Given the description of an element on the screen output the (x, y) to click on. 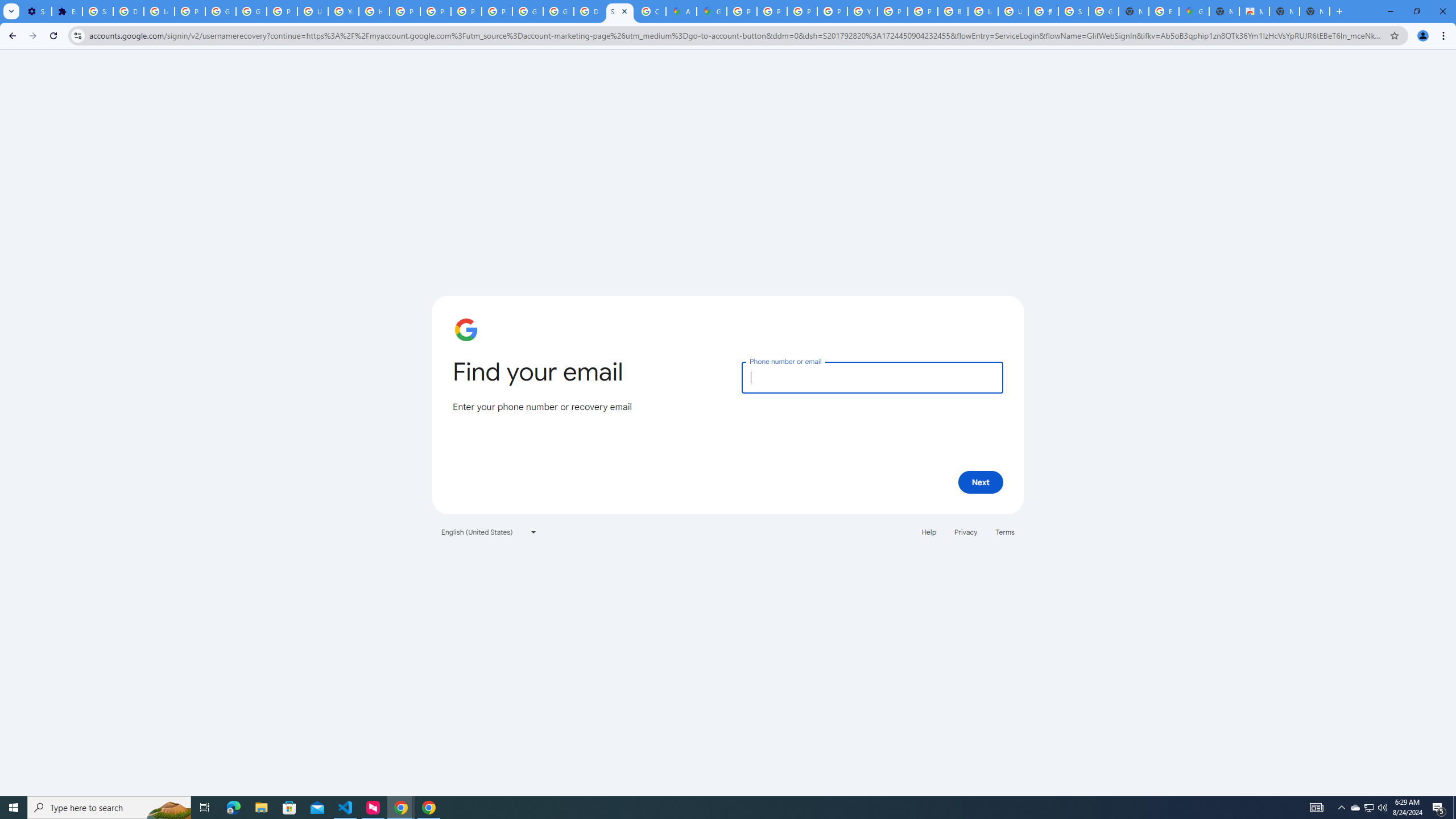
Privacy Help Center - Policies Help (771, 11)
Create your Google Account (650, 11)
Privacy Help Center - Policies Help (801, 11)
Sign in - Google Accounts (619, 11)
